Given the description of an element on the screen output the (x, y) to click on. 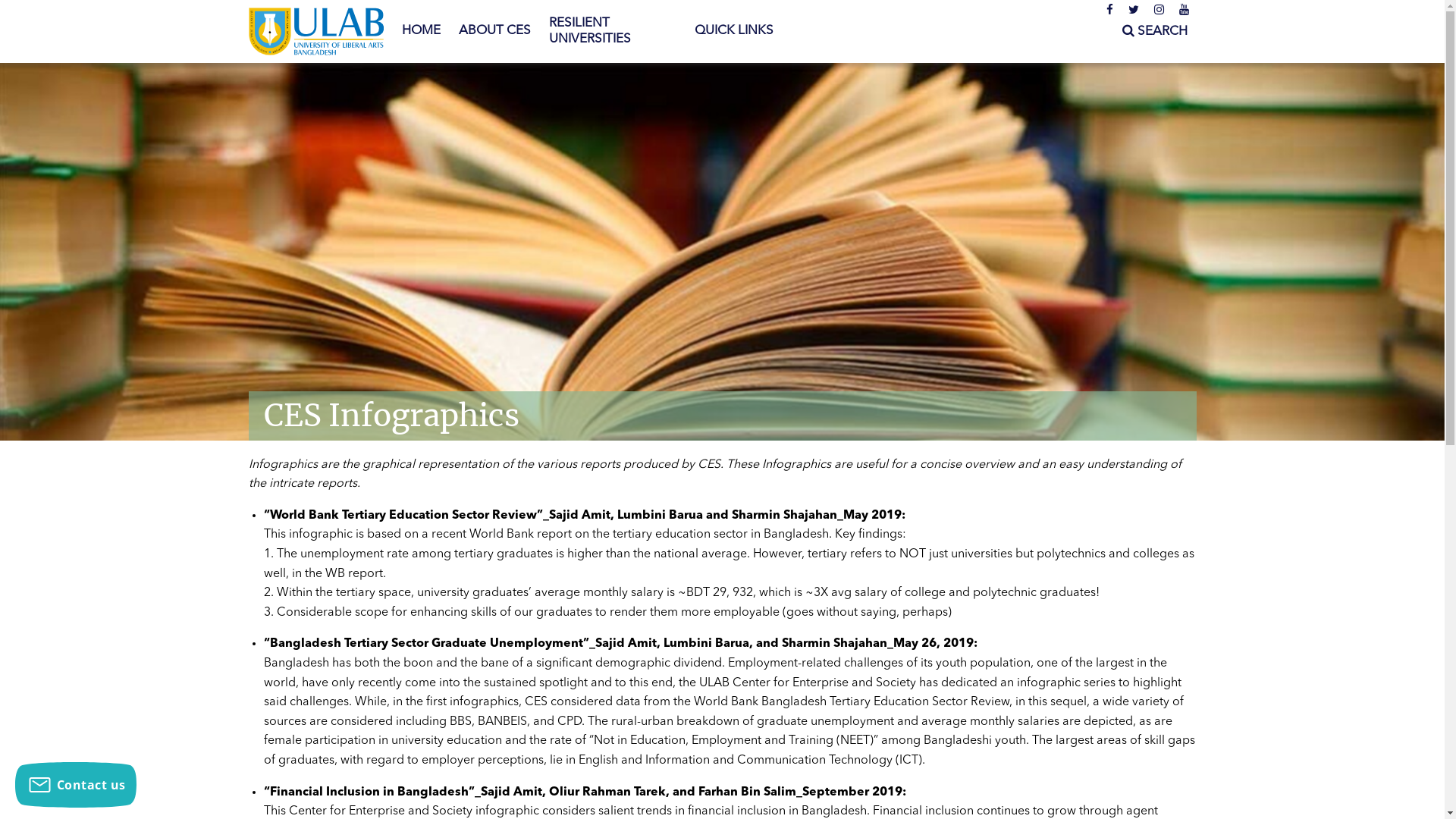
RESILIENT UNIVERSITIES Element type: text (612, 31)
Contact us Element type: text (75, 784)
QUICK LINKS Element type: text (733, 30)
ABOUT CES Element type: text (494, 30)
Skip to main content Element type: text (61, 0)
SEARCH Element type: text (1154, 31)
HOME Element type: text (420, 30)
